Given the description of an element on the screen output the (x, y) to click on. 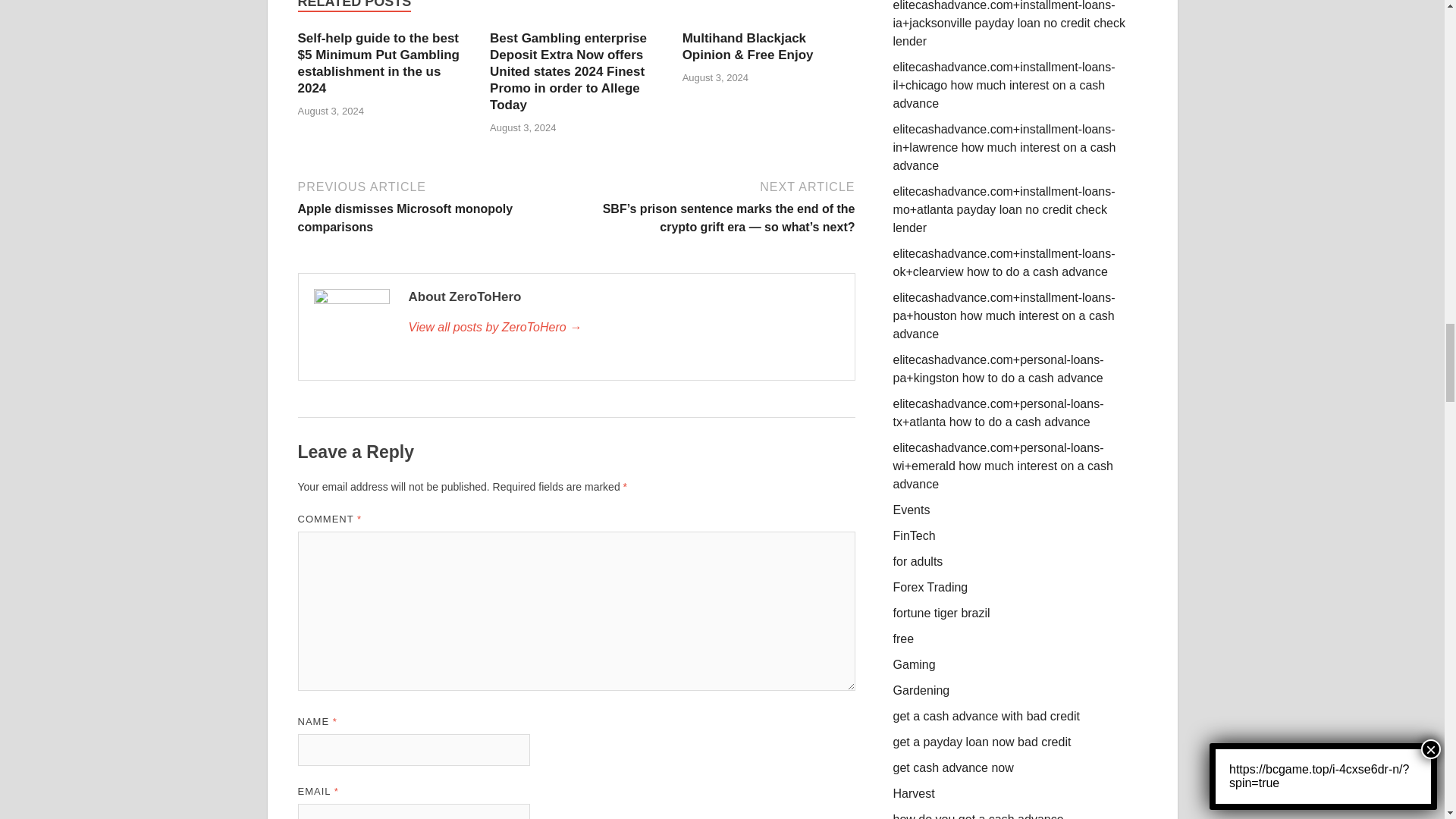
ZeroToHero (622, 327)
